Given the description of an element on the screen output the (x, y) to click on. 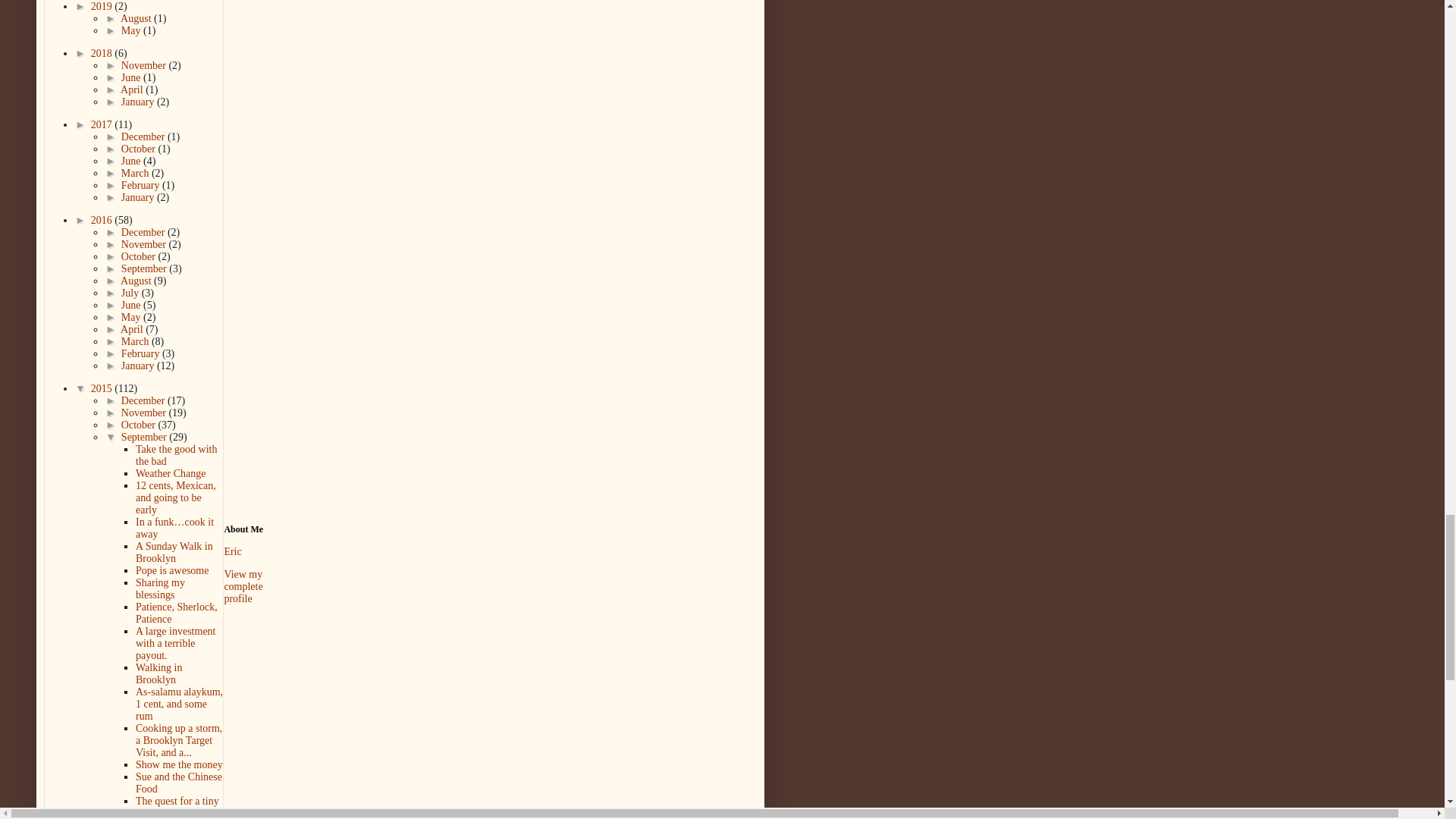
2019 (102, 6)
